Given the description of an element on the screen output the (x, y) to click on. 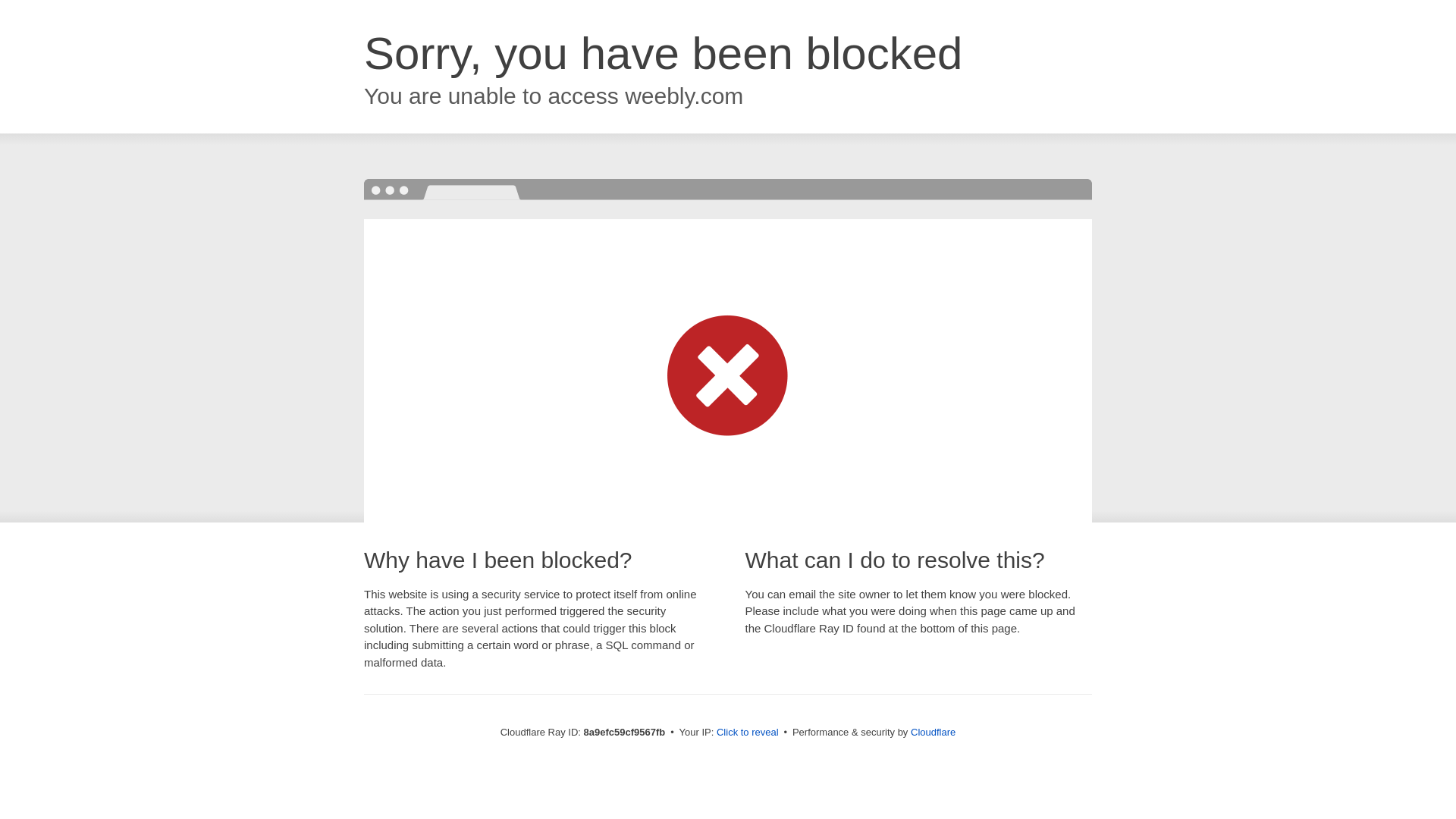
Click to reveal (747, 732)
Cloudflare (933, 731)
